Given the description of an element on the screen output the (x, y) to click on. 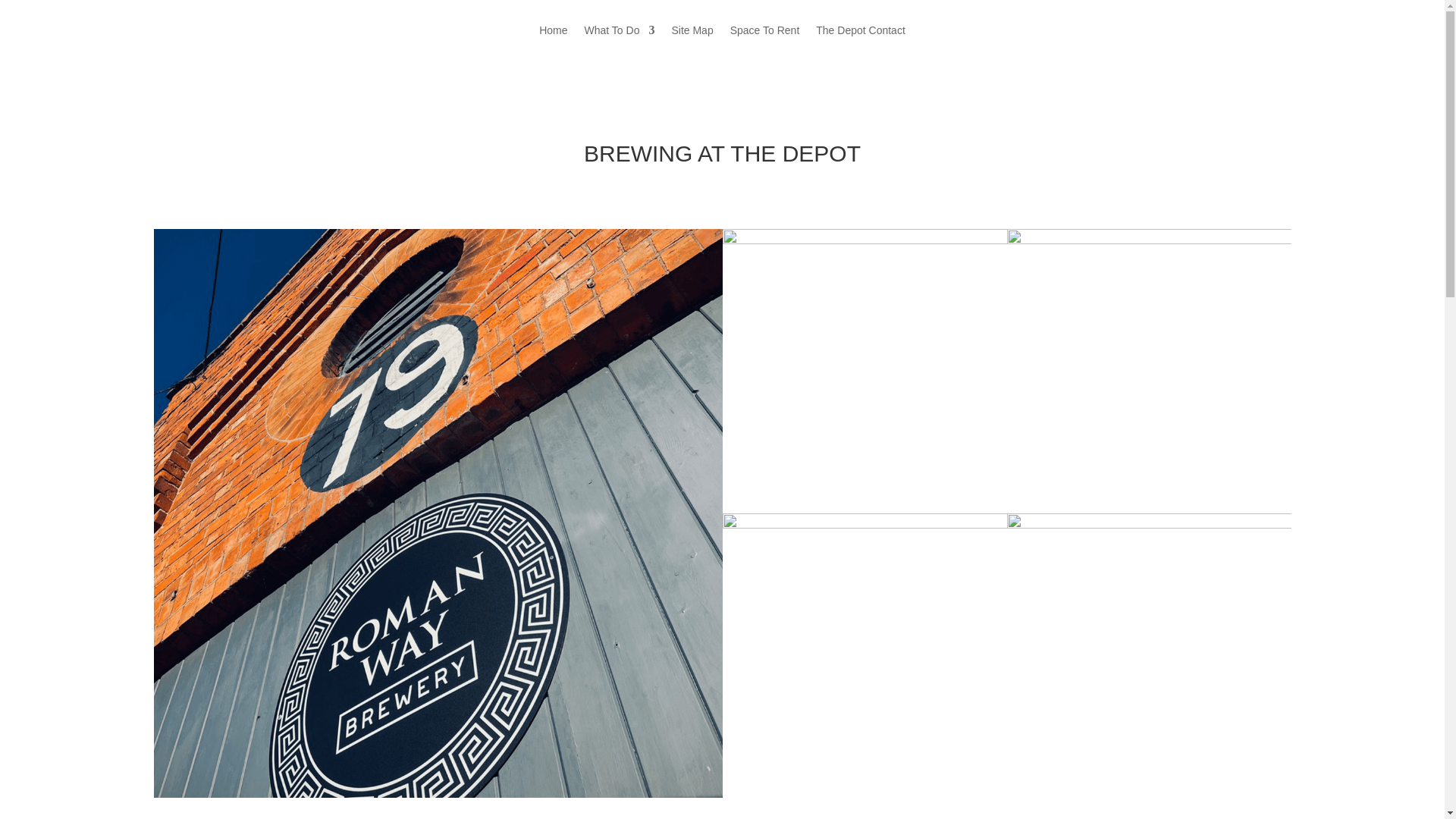
Site Map (692, 41)
Space To Rent (764, 41)
The Depot Contact (860, 41)
What To Do (620, 41)
